Given the description of an element on the screen output the (x, y) to click on. 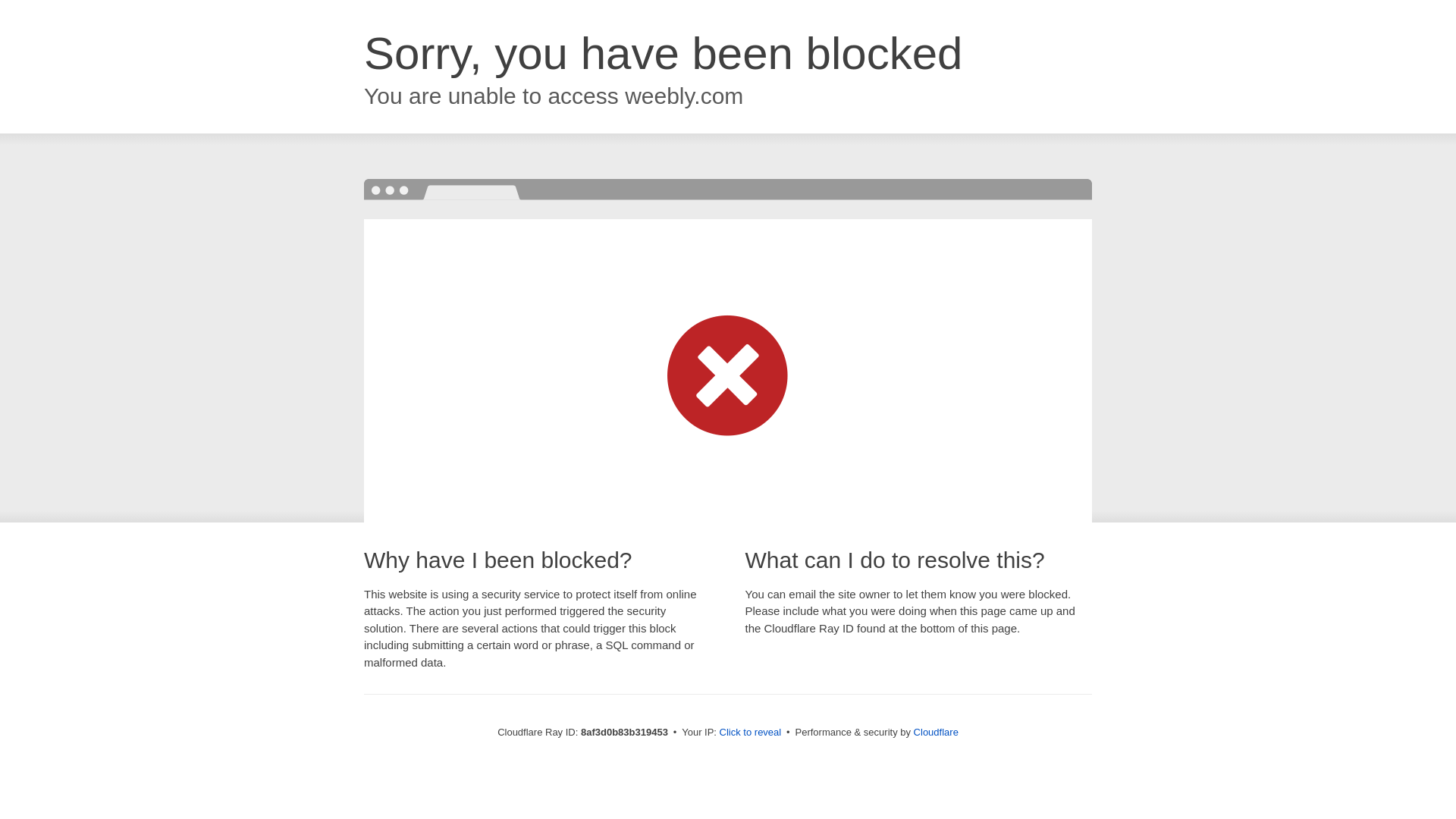
Click to reveal (750, 732)
Cloudflare (936, 731)
